Given the description of an element on the screen output the (x, y) to click on. 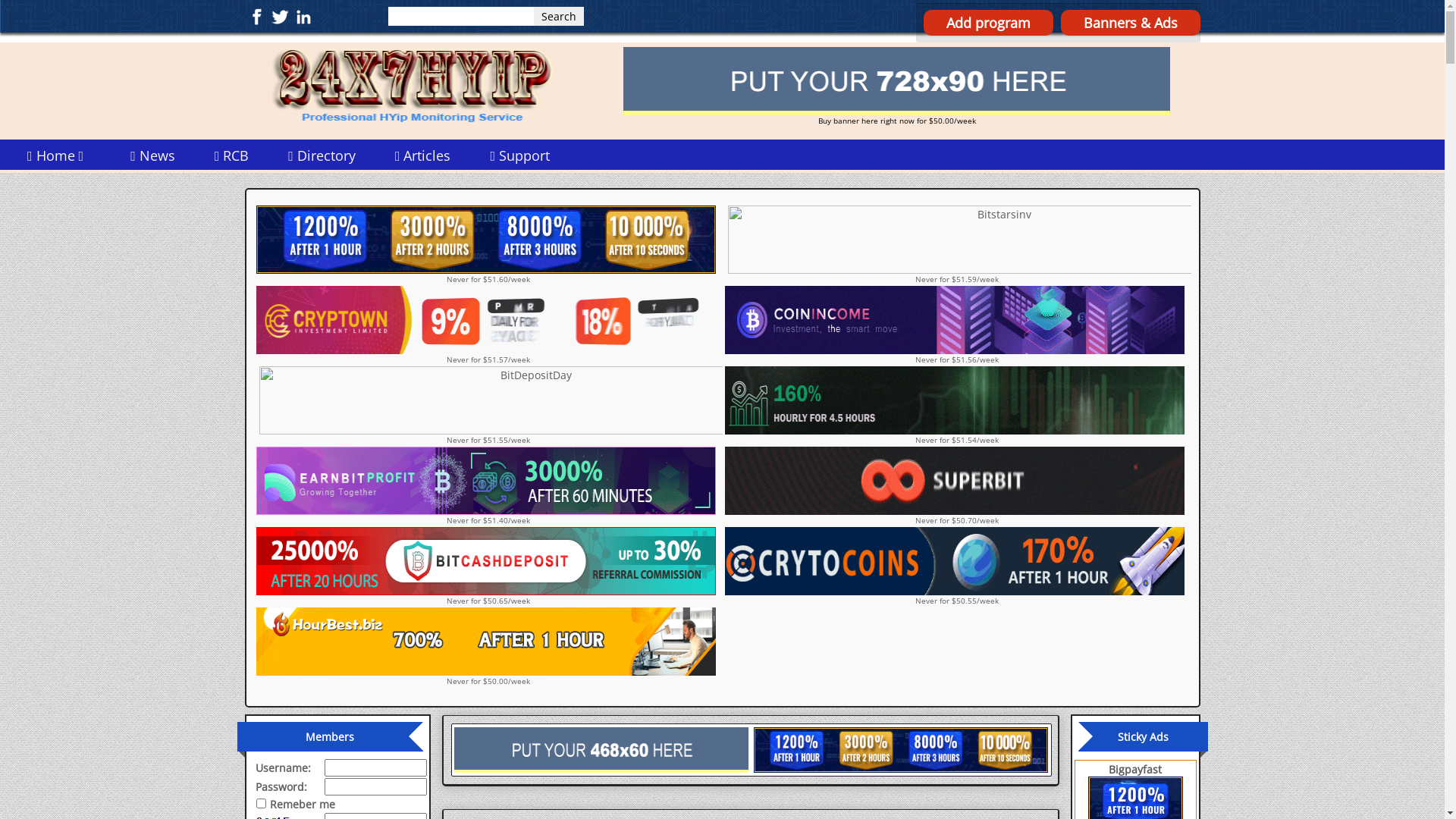
Buy banner here right now for $50.00/week Element type: text (896, 86)
Never for $50.65/week Element type: text (487, 566)
 News Element type: text (152, 155)
Never for $51.40/week Element type: text (487, 485)
Never for $51.56/week Element type: text (955, 324)
Never for $51.60/week Element type: text (487, 244)
Never for $51.57/week Element type: text (487, 324)
Search Element type: text (558, 15)
Banners & Ads Element type: text (1129, 22)
Add program Element type: text (988, 22)
Bigpayfast Element type: text (1134, 769)
 Support Element type: text (519, 155)
Never for $50.55/week Element type: text (955, 566)
Never for $51.54/week Element type: text (955, 405)
Never for $51.59/week Element type: text (955, 244)
 Articles Element type: text (422, 155)
Never for $50.00/week Element type: text (487, 646)
 RCB Element type: text (231, 155)
 Home    Element type: text (59, 155)
Never for $51.55/week Element type: text (487, 405)
Never for $50.70/week Element type: text (955, 485)
 Directory Element type: text (321, 155)
